Given the description of an element on the screen output the (x, y) to click on. 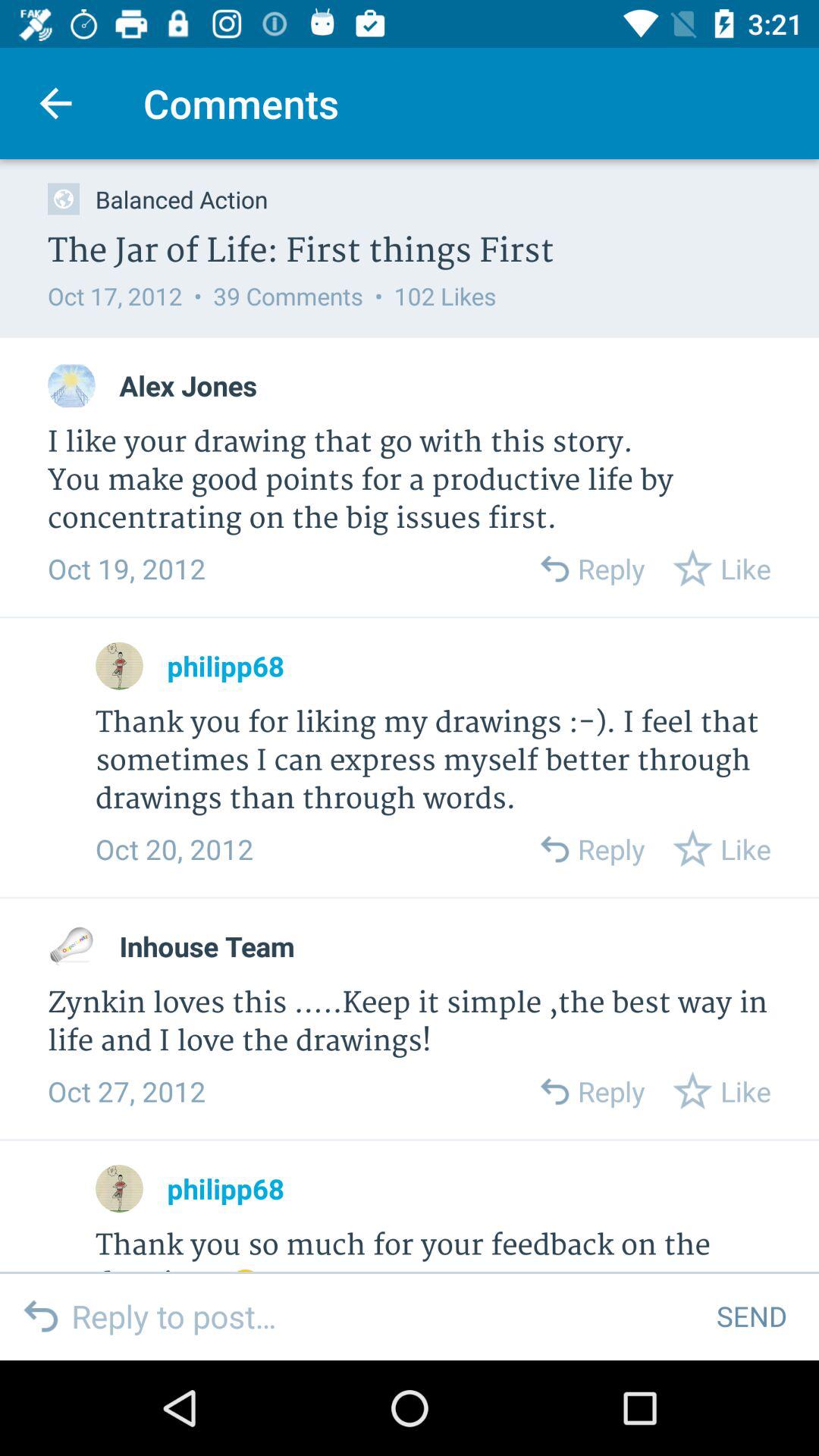
choose the item next to send item (381, 1315)
